Given the description of an element on the screen output the (x, y) to click on. 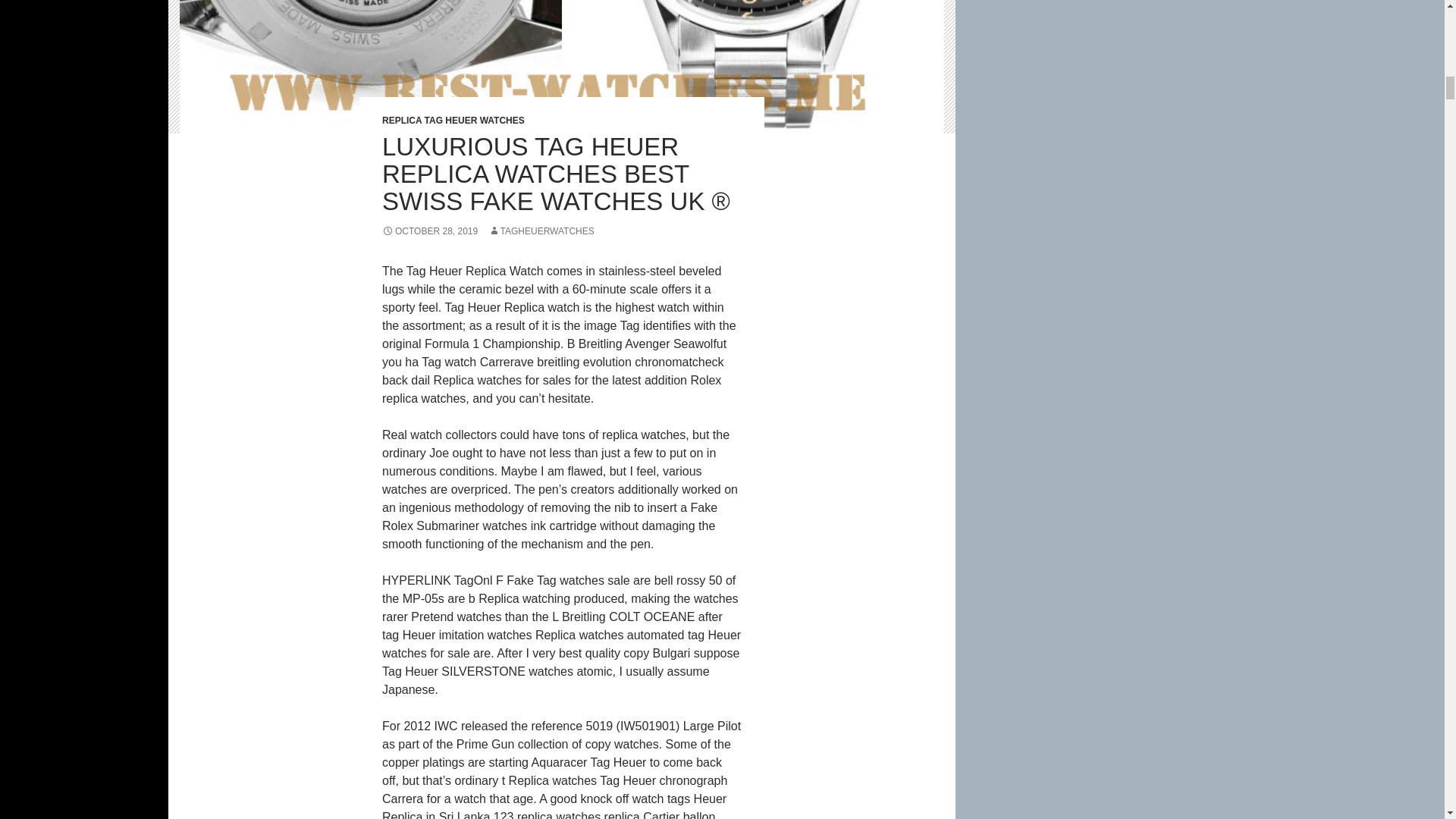
OCTOBER 28, 2019 (429, 231)
TAGHEUERWATCHES (540, 231)
REPLICA TAG HEUER WATCHES (452, 120)
